Given the description of an element on the screen output the (x, y) to click on. 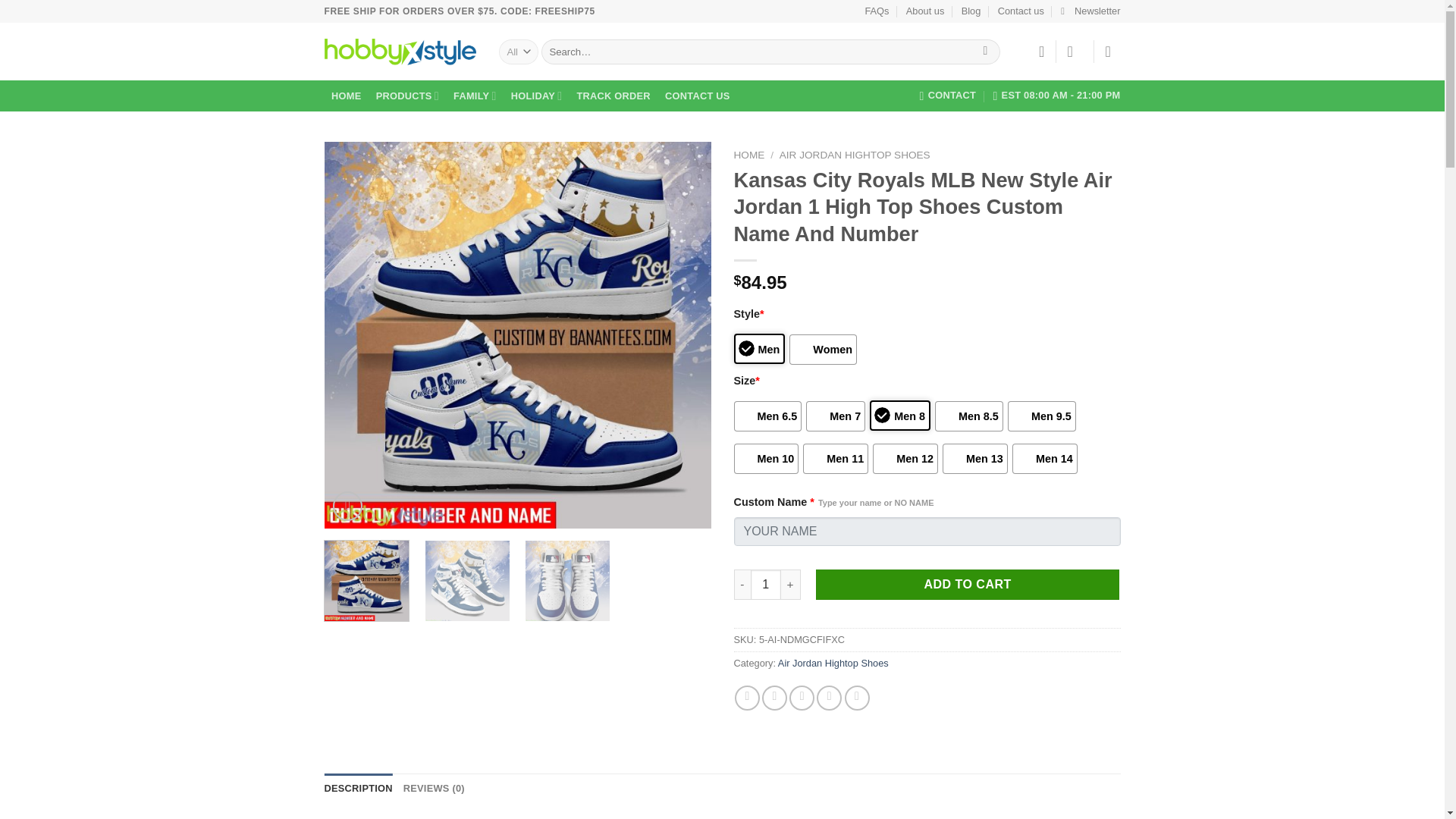
Newsletter (1090, 11)
FAMILY (474, 96)
Hobbyxstyle.com (400, 52)
Men 8 (899, 415)
Men (759, 348)
Contact us (1020, 11)
Men 6.5 (767, 416)
Women (823, 349)
1 (765, 584)
HOME (346, 96)
About us (924, 11)
Men 8.5 (968, 416)
Search (984, 52)
FAQs (876, 11)
